Given the description of an element on the screen output the (x, y) to click on. 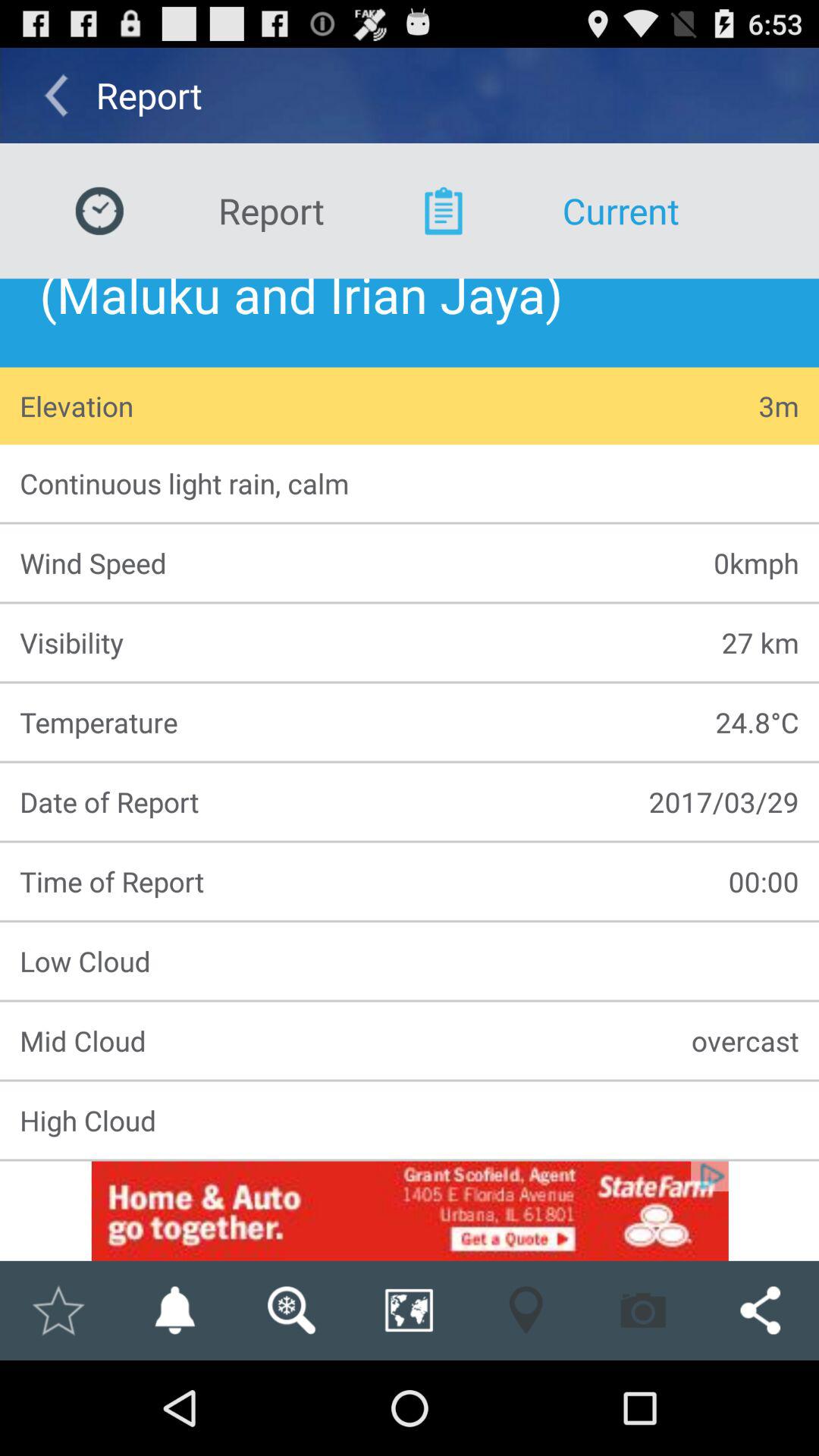
share the option (760, 1310)
